Given the description of an element on the screen output the (x, y) to click on. 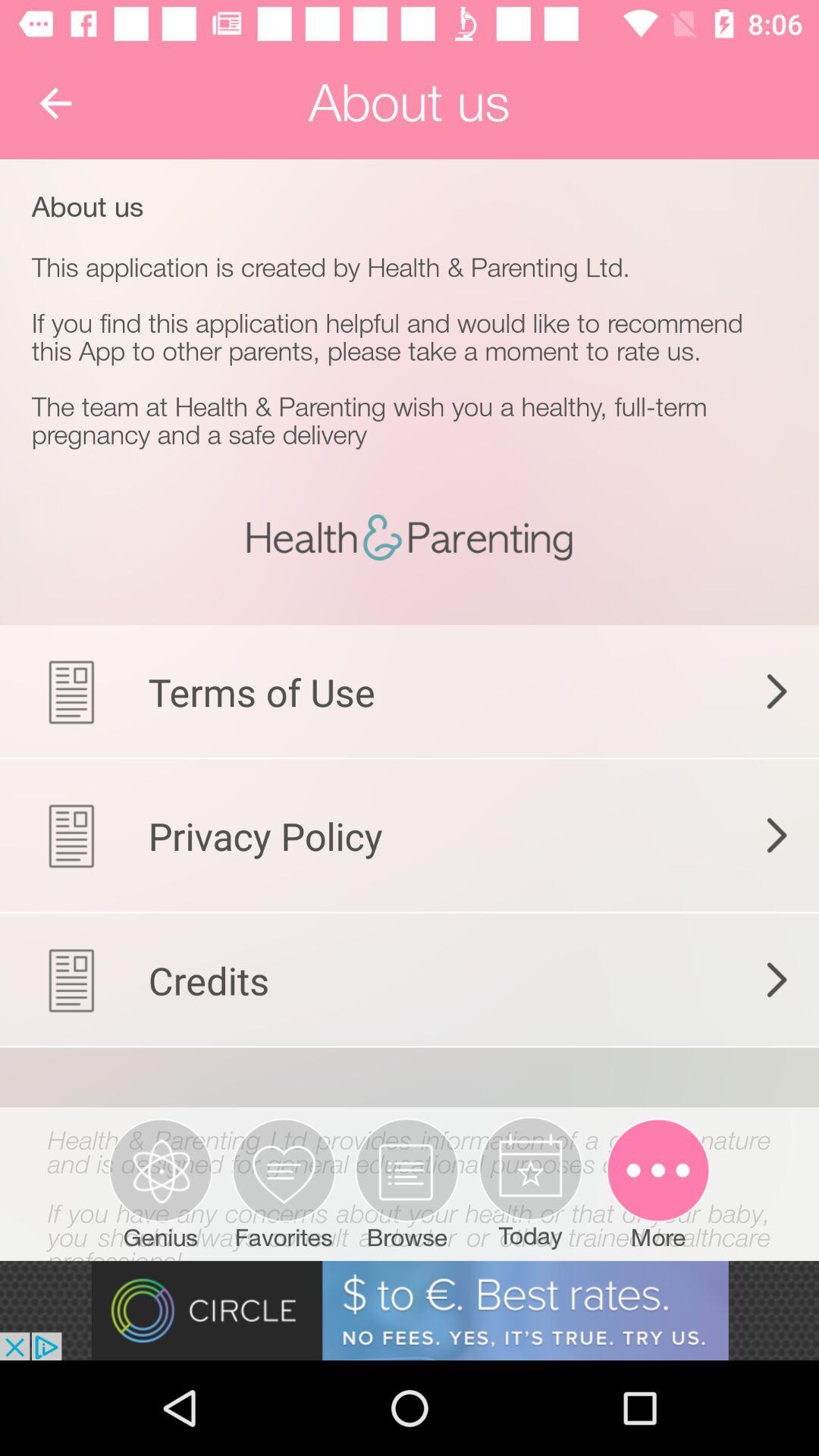
advertisent page (409, 1310)
